Given the description of an element on the screen output the (x, y) to click on. 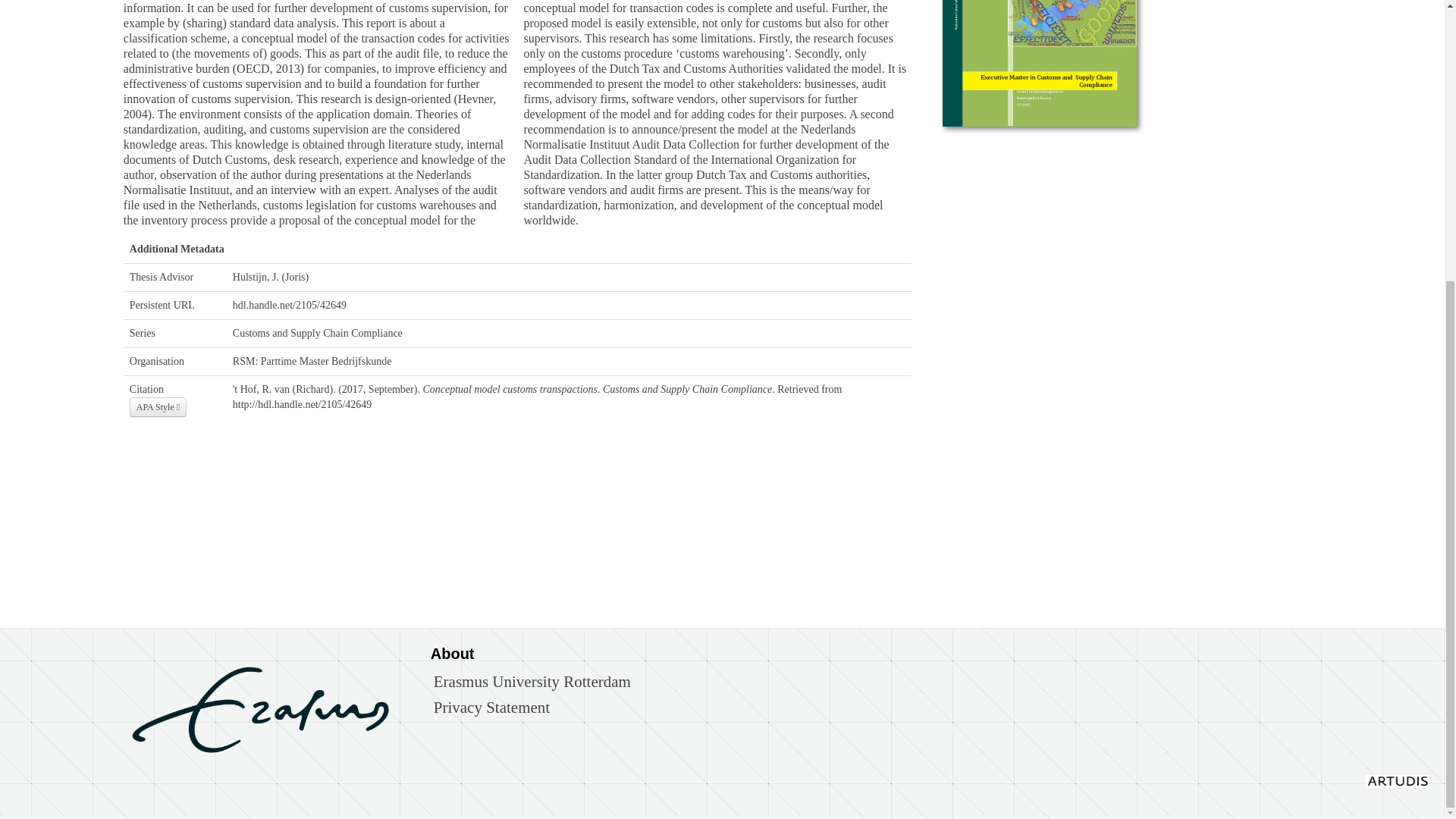
Customs and Supply Chain Compliance (317, 333)
APA Style (157, 406)
RSM: Parttime Master Bedrijfskunde (311, 360)
